Given the description of an element on the screen output the (x, y) to click on. 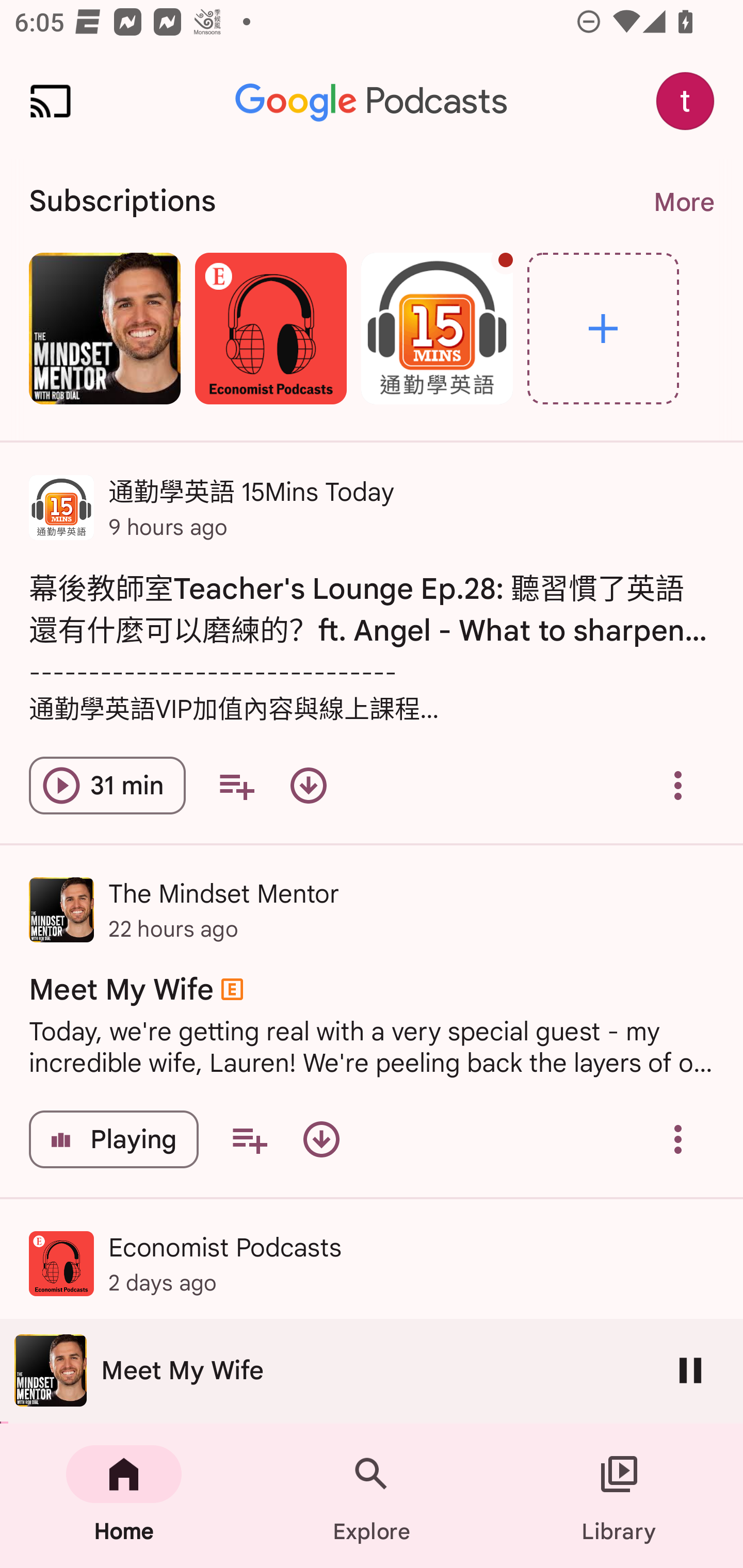
Cast. Disconnected (50, 101)
More More. Navigate to subscriptions page. (683, 202)
The Mindset Mentor (104, 328)
Economist Podcasts (270, 328)
通勤學英語 15Mins Today (436, 328)
Explore (603, 328)
Add to your queue (235, 785)
Download episode (308, 785)
Overflow menu (677, 785)
Pause episode Meet My Wife Playing (113, 1139)
Add to your queue (249, 1139)
Download episode (321, 1139)
Overflow menu (677, 1139)
The Mindset Mentor Meet My Wife Pause 11.0 (371, 1370)
Pause (690, 1370)
Explore (371, 1495)
Library (619, 1495)
